Given the description of an element on the screen output the (x, y) to click on. 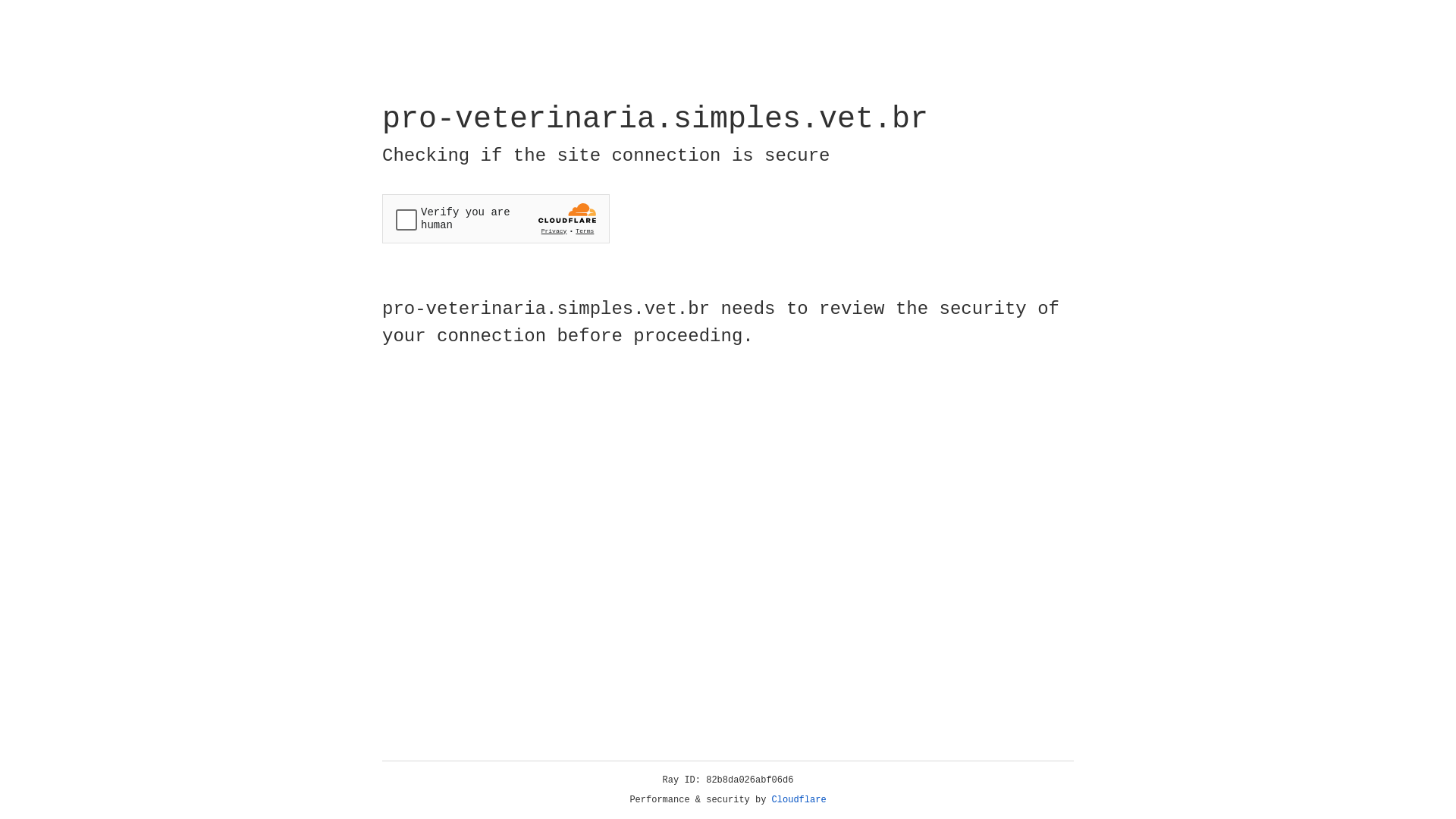
Cloudflare Element type: text (798, 799)
Widget containing a Cloudflare security challenge Element type: hover (495, 218)
